Given the description of an element on the screen output the (x, y) to click on. 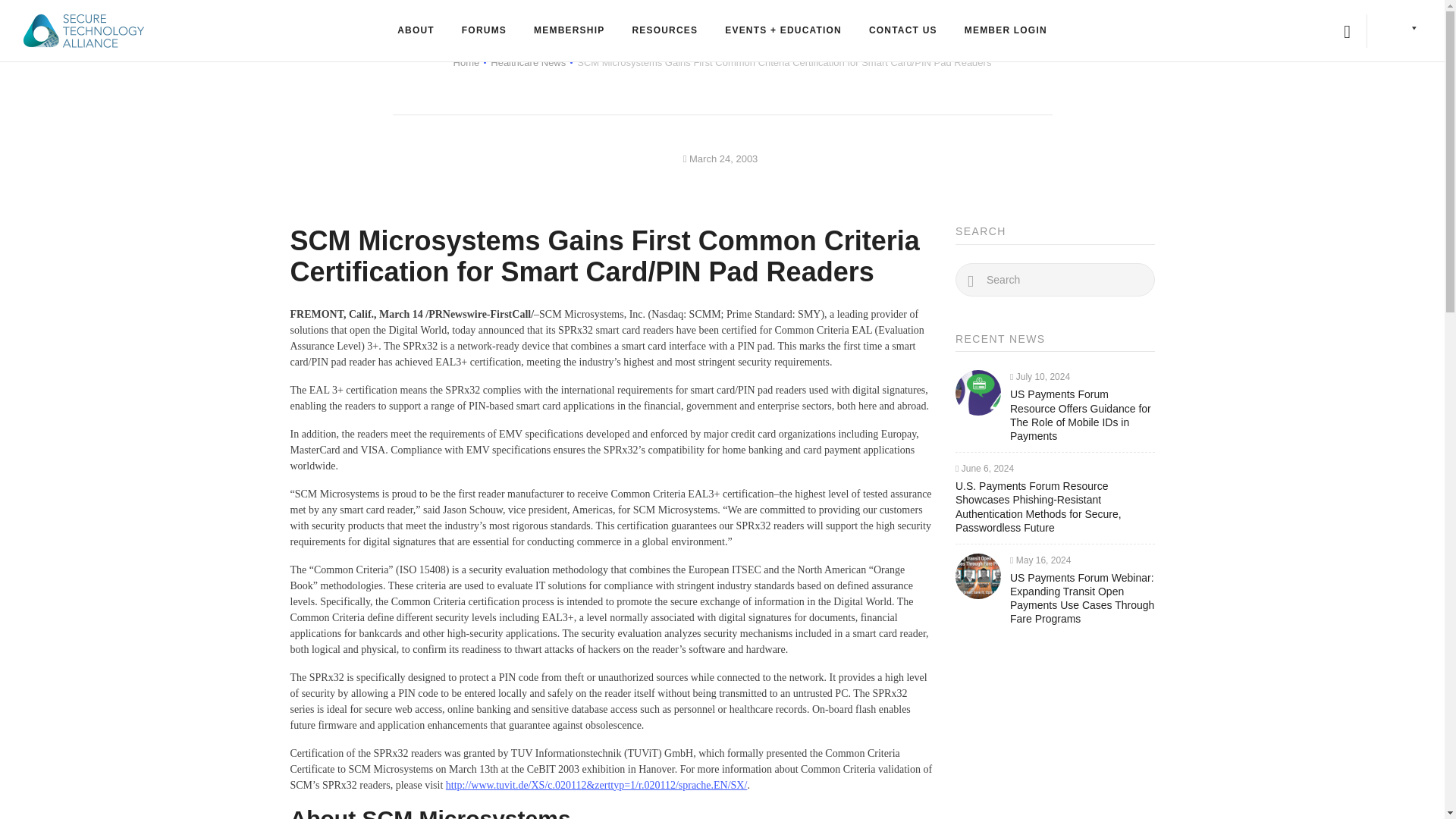
Go to Secure Technology Alliance. (466, 61)
Go to the Healthcare News category archives. (528, 61)
